Given the description of an element on the screen output the (x, y) to click on. 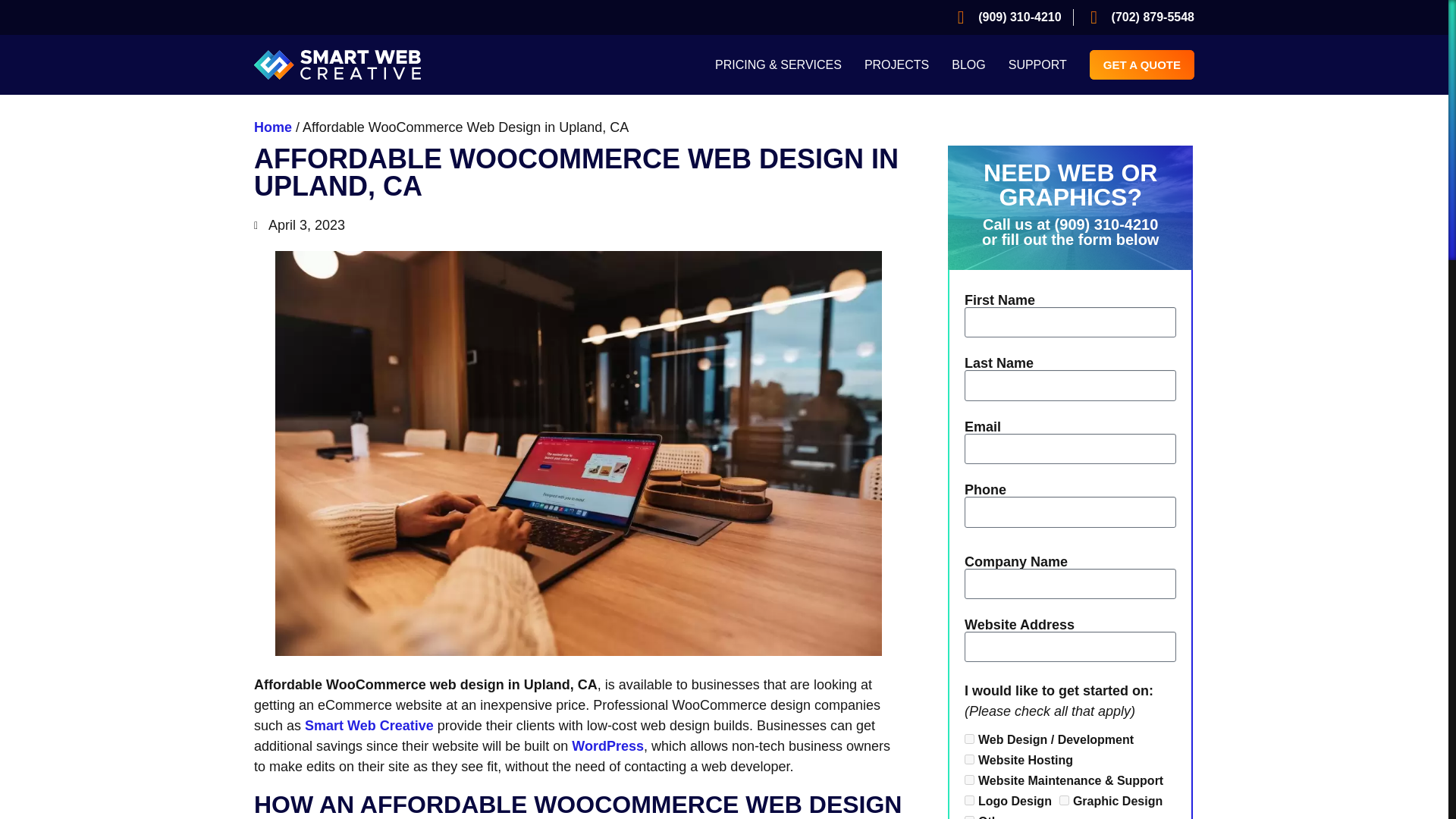
Graphic Design (1063, 800)
Logo Design (968, 800)
BLOG (968, 64)
Other (968, 817)
Website Hosting (968, 759)
PROJECTS (896, 64)
Home (272, 127)
GET A QUOTE (1141, 64)
Smart Web Creative (368, 725)
SUPPORT (1038, 64)
